Given the description of an element on the screen output the (x, y) to click on. 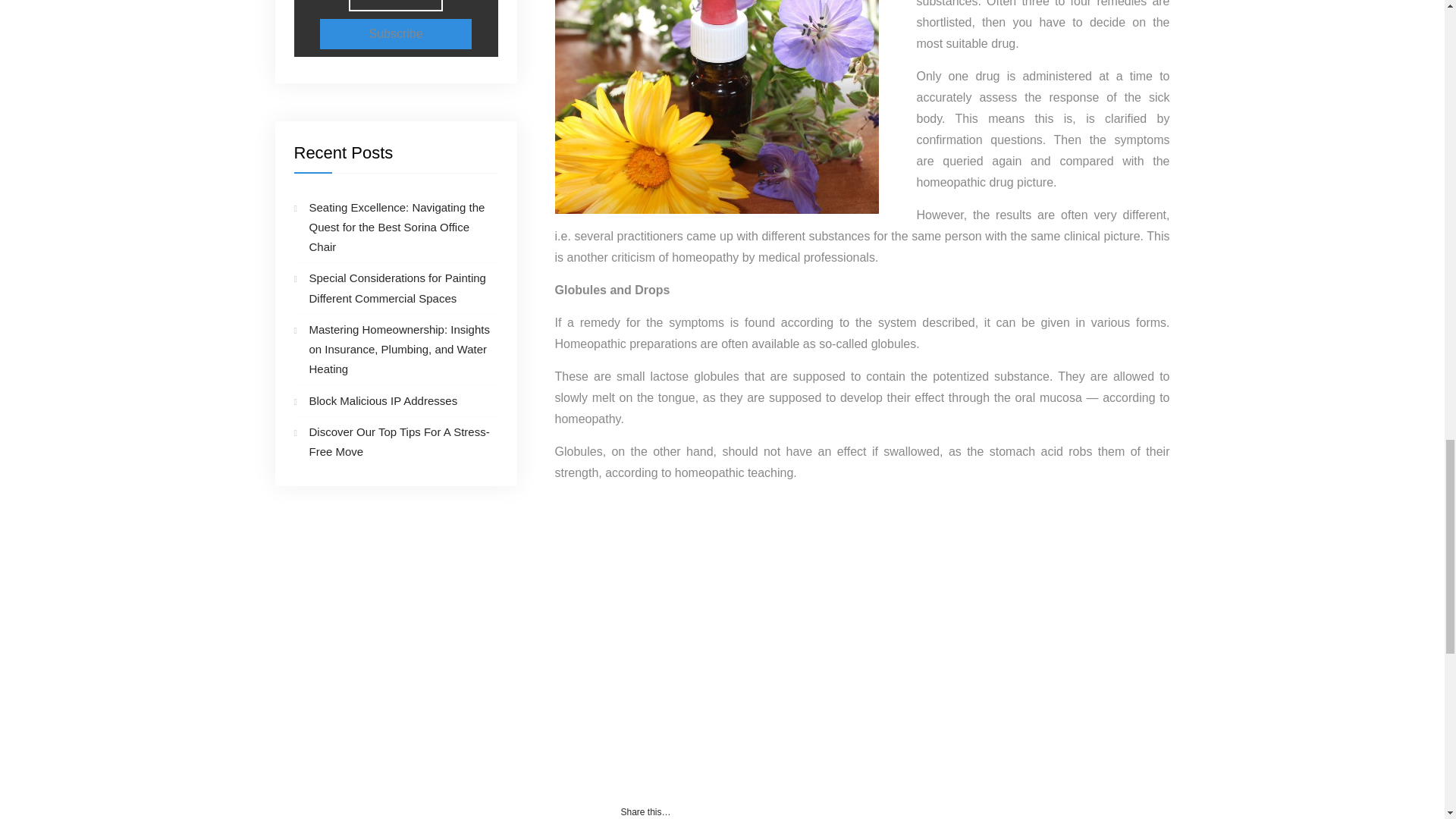
Subscribe (395, 33)
Discover Our Top Tips For A Stress-Free Move (398, 441)
Block Malicious IP Addresses (383, 400)
